Given the description of an element on the screen output the (x, y) to click on. 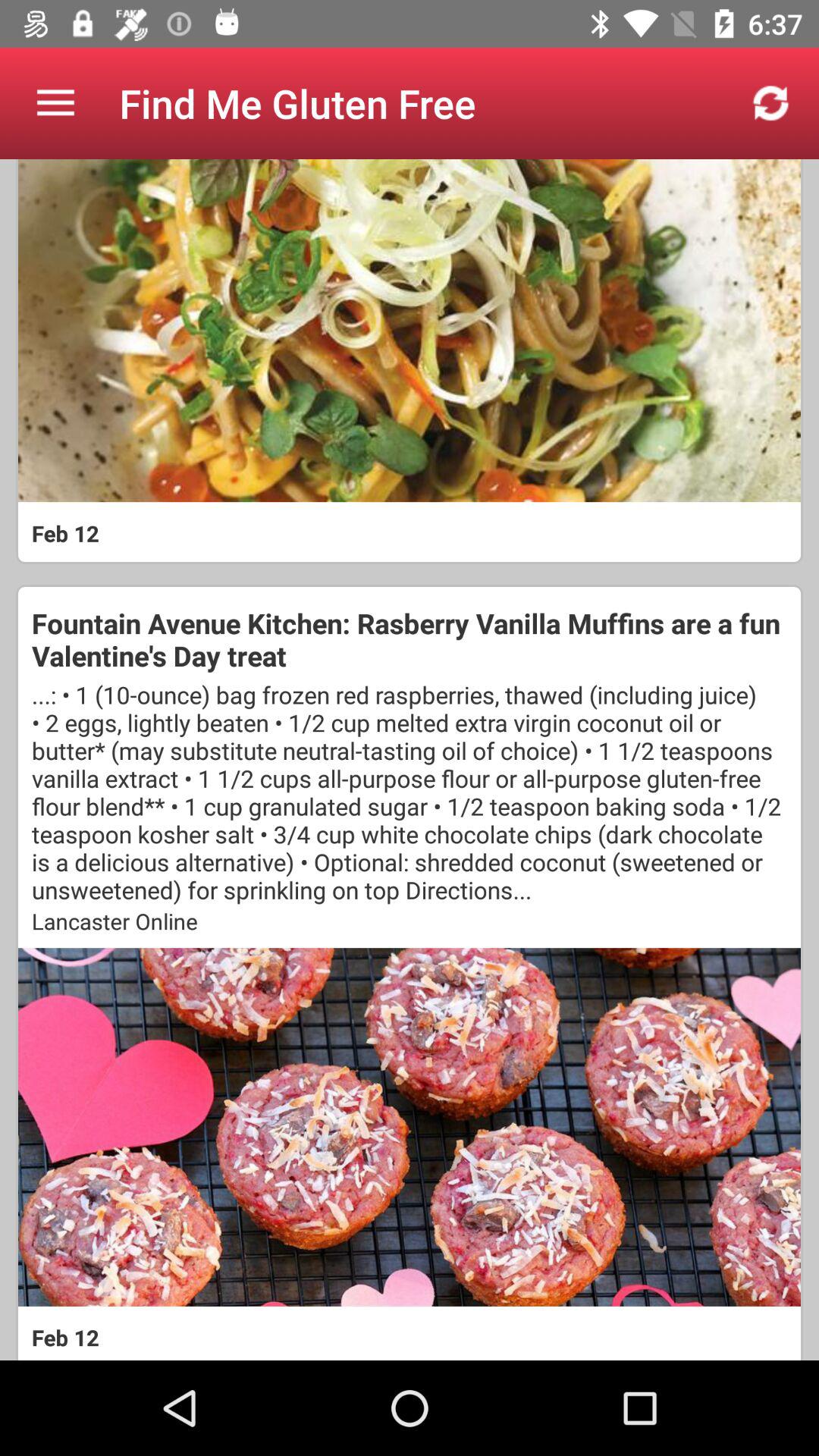
choose the icon below fountain avenue kitchen icon (409, 792)
